Given the description of an element on the screen output the (x, y) to click on. 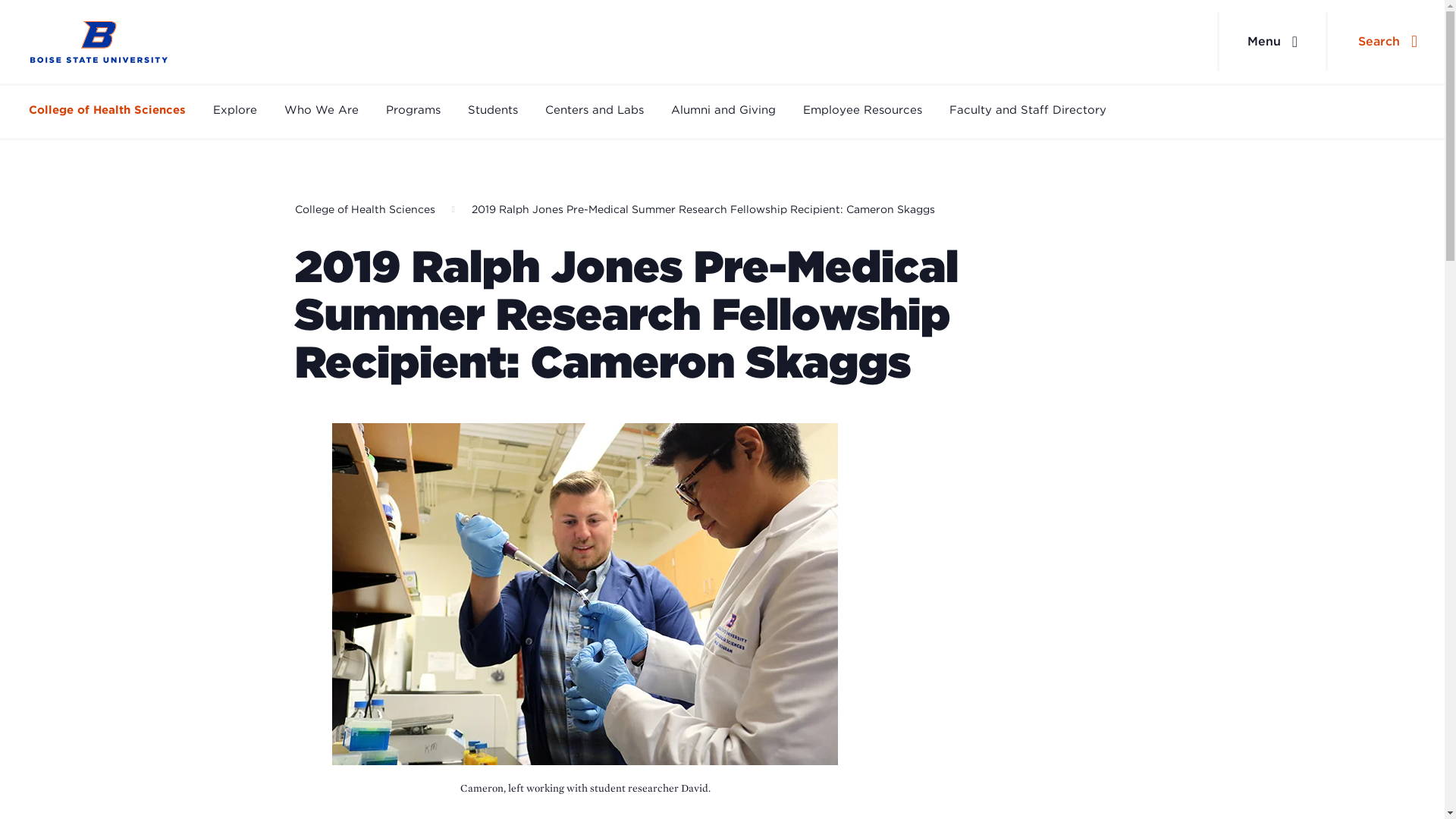
College of Health Sciences Home (98, 41)
Centers and Labs (593, 110)
Employee Resources (862, 110)
College of Health Sciences Students (492, 110)
Faculty and Staff Directory (1027, 110)
College of Health Sciences (107, 110)
Programs (413, 110)
Menu (1272, 41)
About the College of Health Sciences (320, 110)
Who We Are (320, 110)
College of Health Sciences (363, 209)
Alumni and Giving (723, 110)
Students (492, 110)
